Given the description of an element on the screen output the (x, y) to click on. 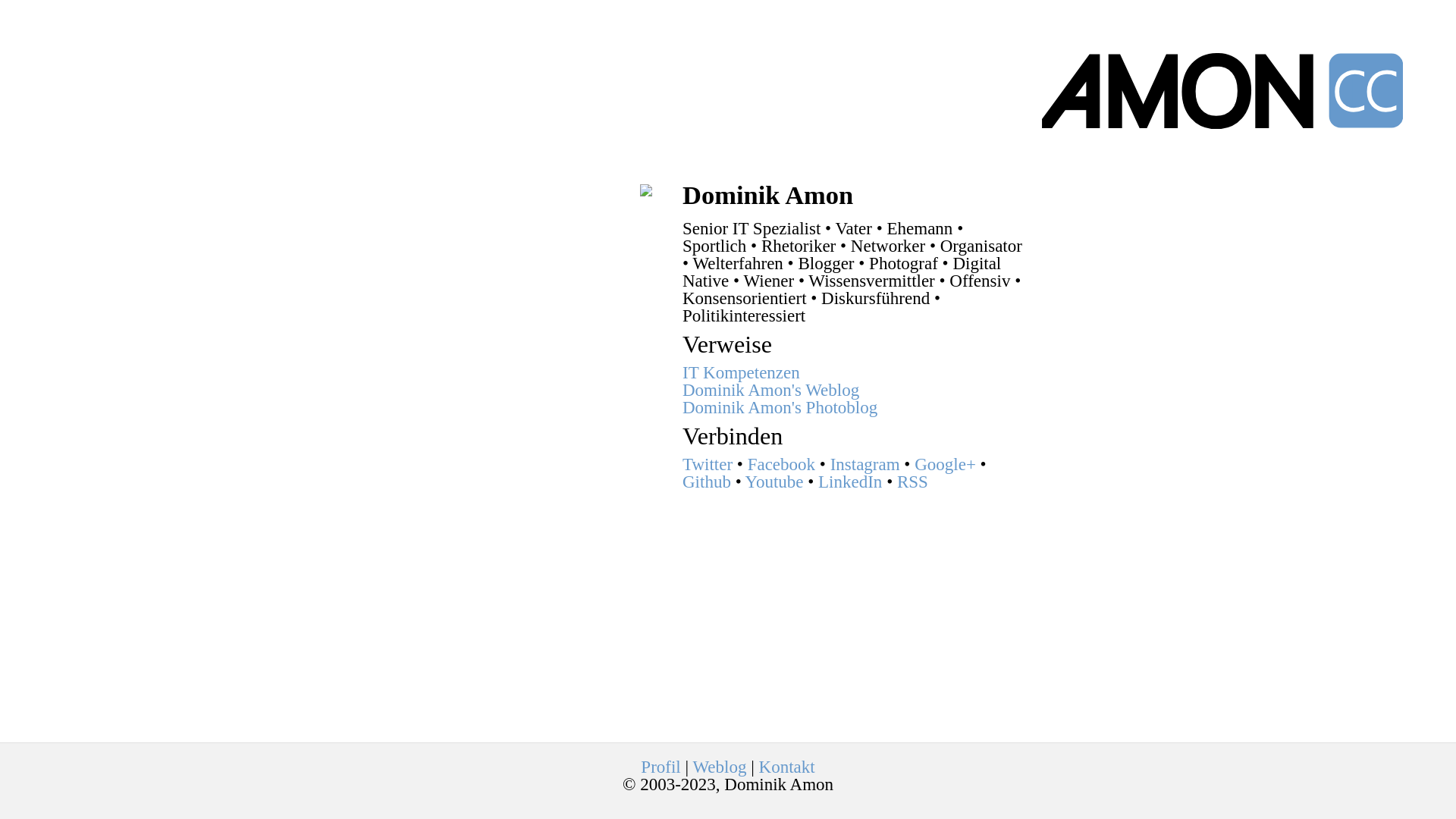
Profil Element type: text (660, 766)
Dominik Amon's Photoblog Element type: text (779, 407)
Dominik Amon's Weblog Element type: text (770, 389)
Instagram Element type: text (865, 464)
RSS Element type: text (912, 481)
LinkedIn Element type: text (849, 481)
Kontakt Element type: text (787, 766)
IT Kompetenzen Element type: text (741, 372)
Google+ Element type: text (944, 464)
Youtube Element type: text (774, 481)
Weblog Element type: text (719, 766)
Twitter Element type: text (707, 464)
Facebook Element type: text (781, 464)
Github Element type: text (706, 481)
